Given the description of an element on the screen output the (x, y) to click on. 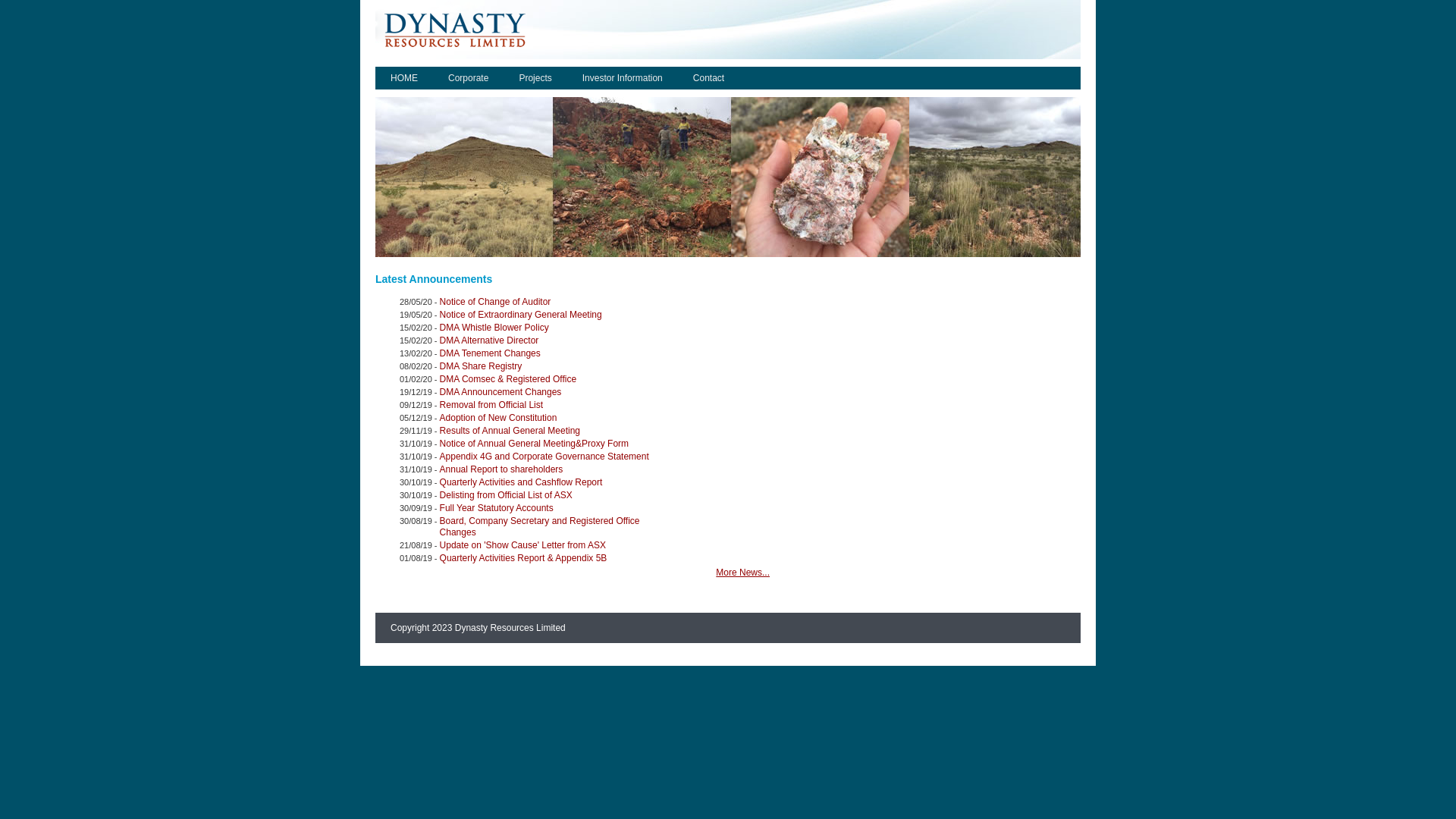
Removal from Official List Element type: text (551, 405)
Adoption of New Constitution Element type: text (551, 417)
DMA Announcement Changes Element type: text (551, 392)
Notice of Annual General Meeting&Proxy Form Element type: text (551, 443)
Quarterly Activities and Cashflow Report Element type: text (551, 482)
Quarterly Activities Report & Appendix 5B Element type: text (551, 558)
Update on 'Show Cause' Letter from ASX Element type: text (551, 545)
Corporate Element type: text (468, 77)
Projects Element type: text (534, 77)
Appendix 4G and Corporate Governance Statement Element type: text (551, 456)
Investor Information Element type: text (622, 77)
Annual Report to shareholders Element type: text (551, 469)
Contact Element type: text (708, 77)
DMA Tenement Changes Element type: text (551, 353)
More News... Element type: text (742, 572)
Board, Company Secretary and Registered Office Changes Element type: text (551, 526)
DMA Share Registry Element type: text (551, 366)
DMA Alternative Director Element type: text (551, 340)
DMA Whistle Blower Policy Element type: text (551, 327)
HOME Element type: text (404, 77)
Full Year Statutory Accounts Element type: text (551, 508)
DMA Comsec & Registered Office Element type: text (551, 379)
Notice of Extraordinary General Meeting Element type: text (551, 314)
Results of Annual General Meeting Element type: text (551, 430)
Delisting from Official List of ASX Element type: text (551, 495)
Notice of Change of Auditor Element type: text (551, 301)
